Given the description of an element on the screen output the (x, y) to click on. 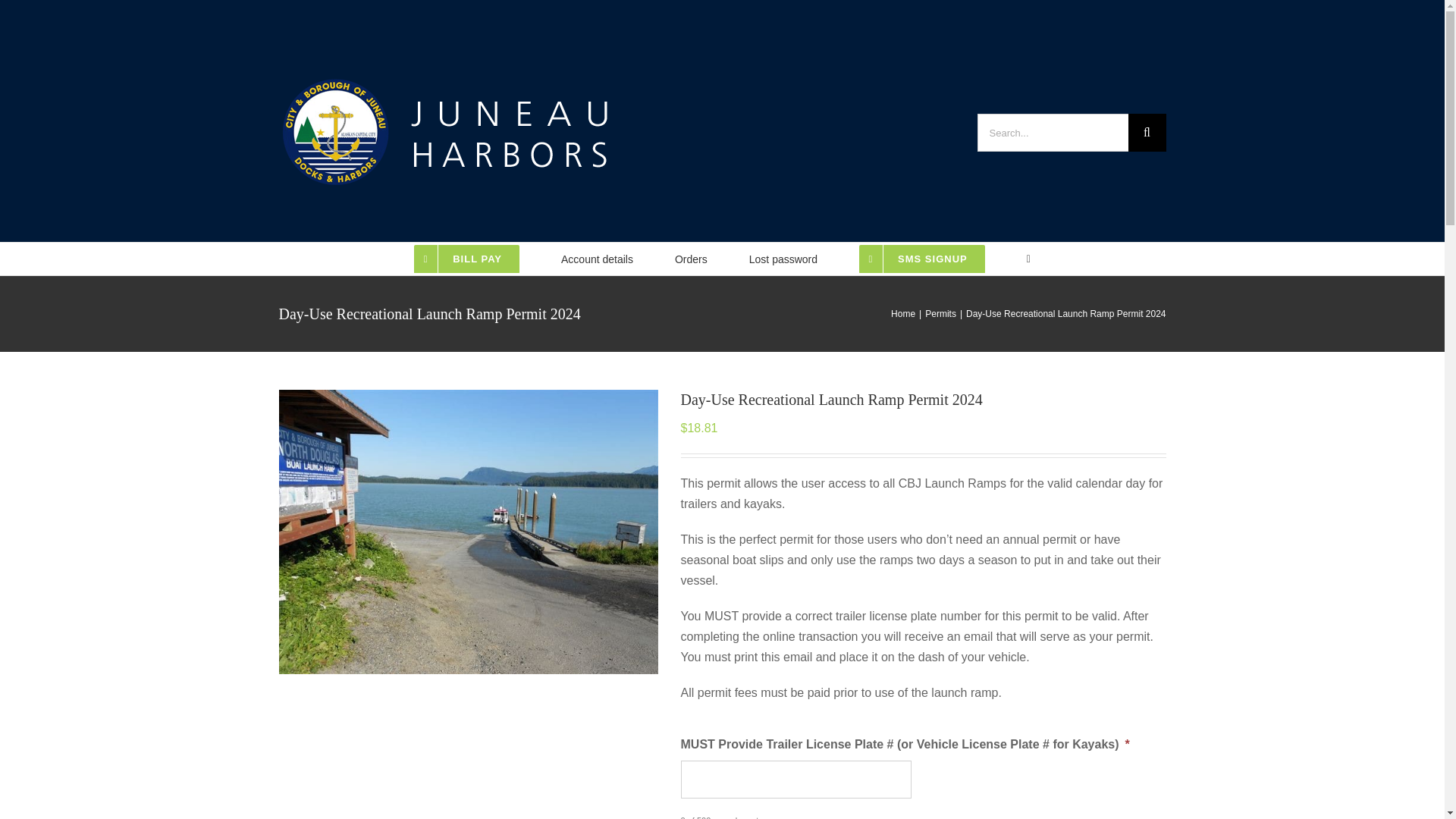
Lost password (782, 257)
SMS SIGNUP (922, 257)
Permits (940, 313)
Account details (596, 257)
Orders (691, 257)
Home (903, 313)
BILL PAY (466, 257)
